Given the description of an element on the screen output the (x, y) to click on. 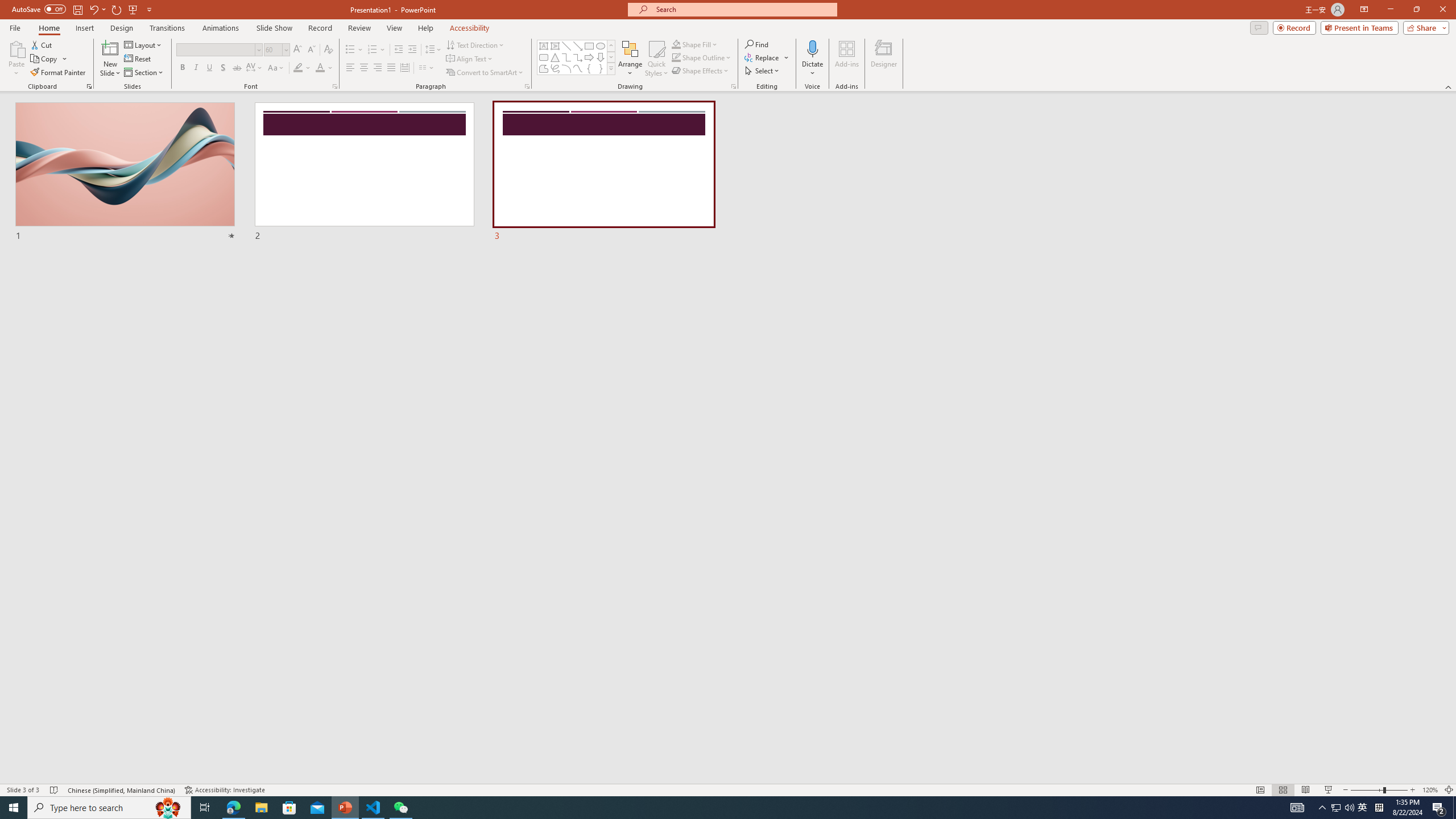
Font... (334, 85)
Center (363, 67)
Decrease Font Size (310, 49)
Font Color Red (320, 67)
